Given the description of an element on the screen output the (x, y) to click on. 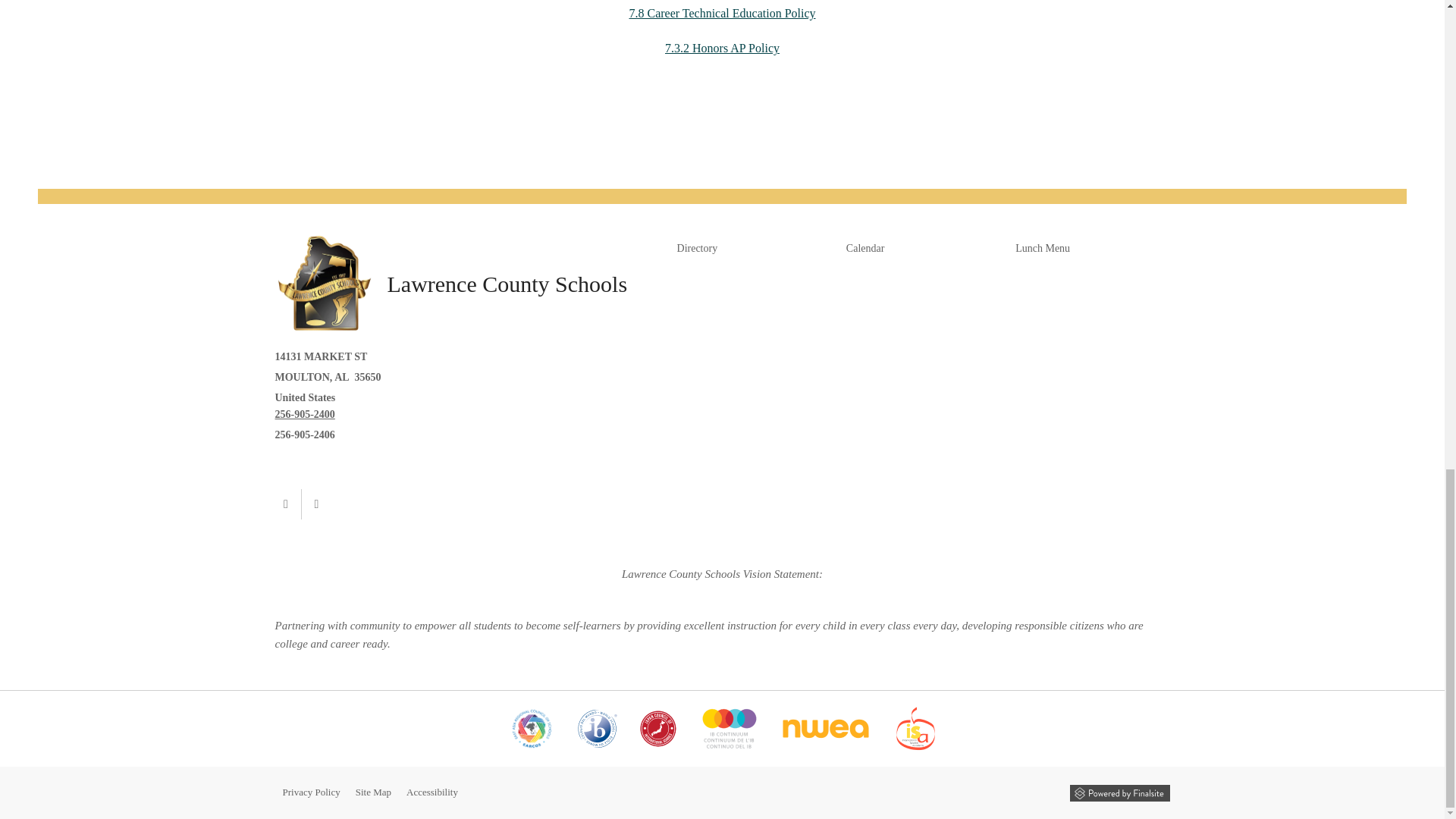
Powered by Finalsite opens in a new window (1118, 792)
